Given the description of an element on the screen output the (x, y) to click on. 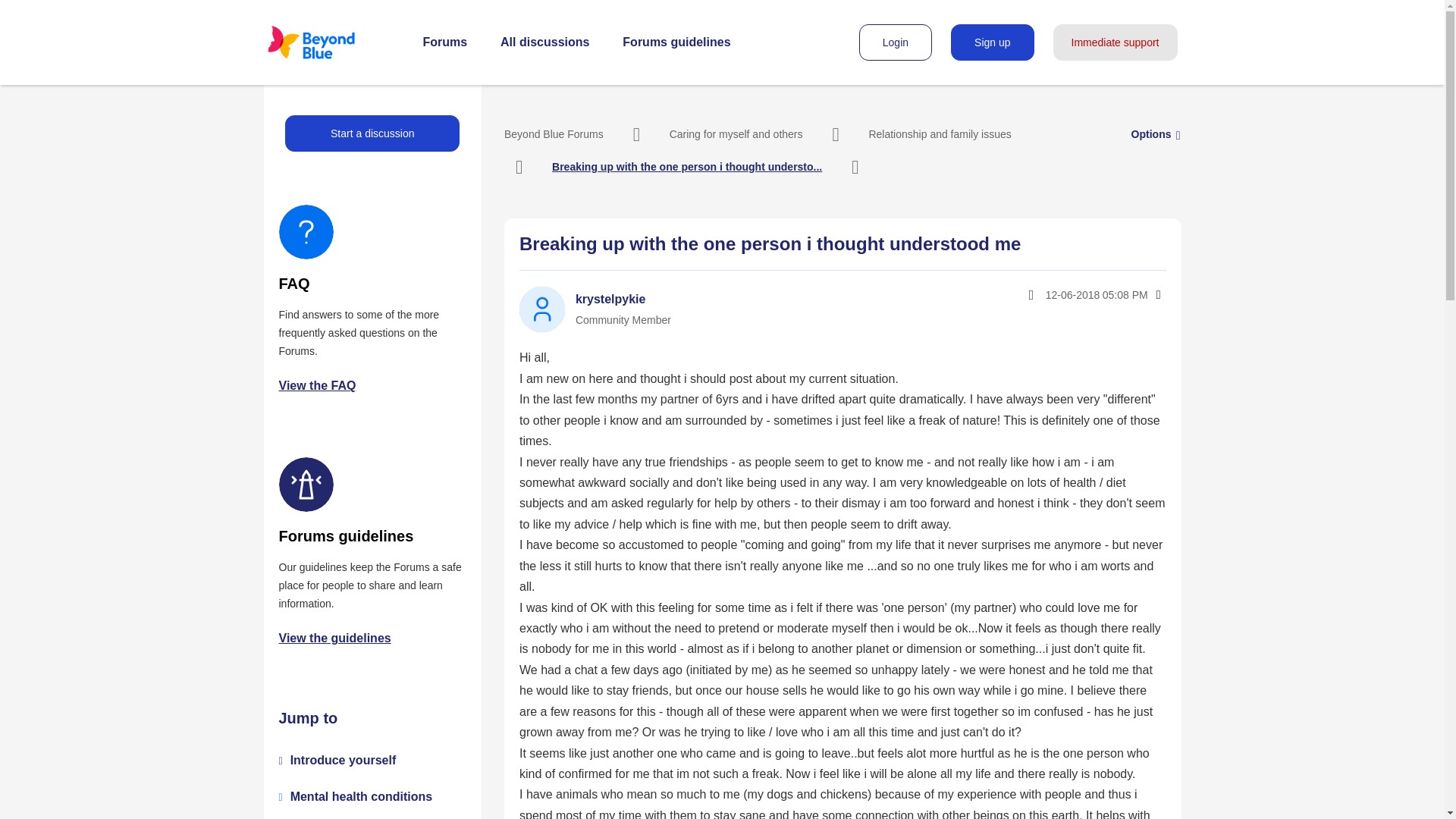
Show option menu (1150, 133)
Beyond Blue Website (331, 42)
Introduce yourself (342, 759)
Relationship and family issues (938, 133)
Forums (445, 41)
Show option menu (1157, 294)
krystelpykie (541, 309)
All discussions (544, 41)
Immediate support (1114, 42)
Options (1157, 294)
Login (895, 42)
View the guidelines (335, 637)
Beyond Blue Forums (553, 133)
Posted on (1063, 294)
Mental health conditions (360, 796)
